Given the description of an element on the screen output the (x, y) to click on. 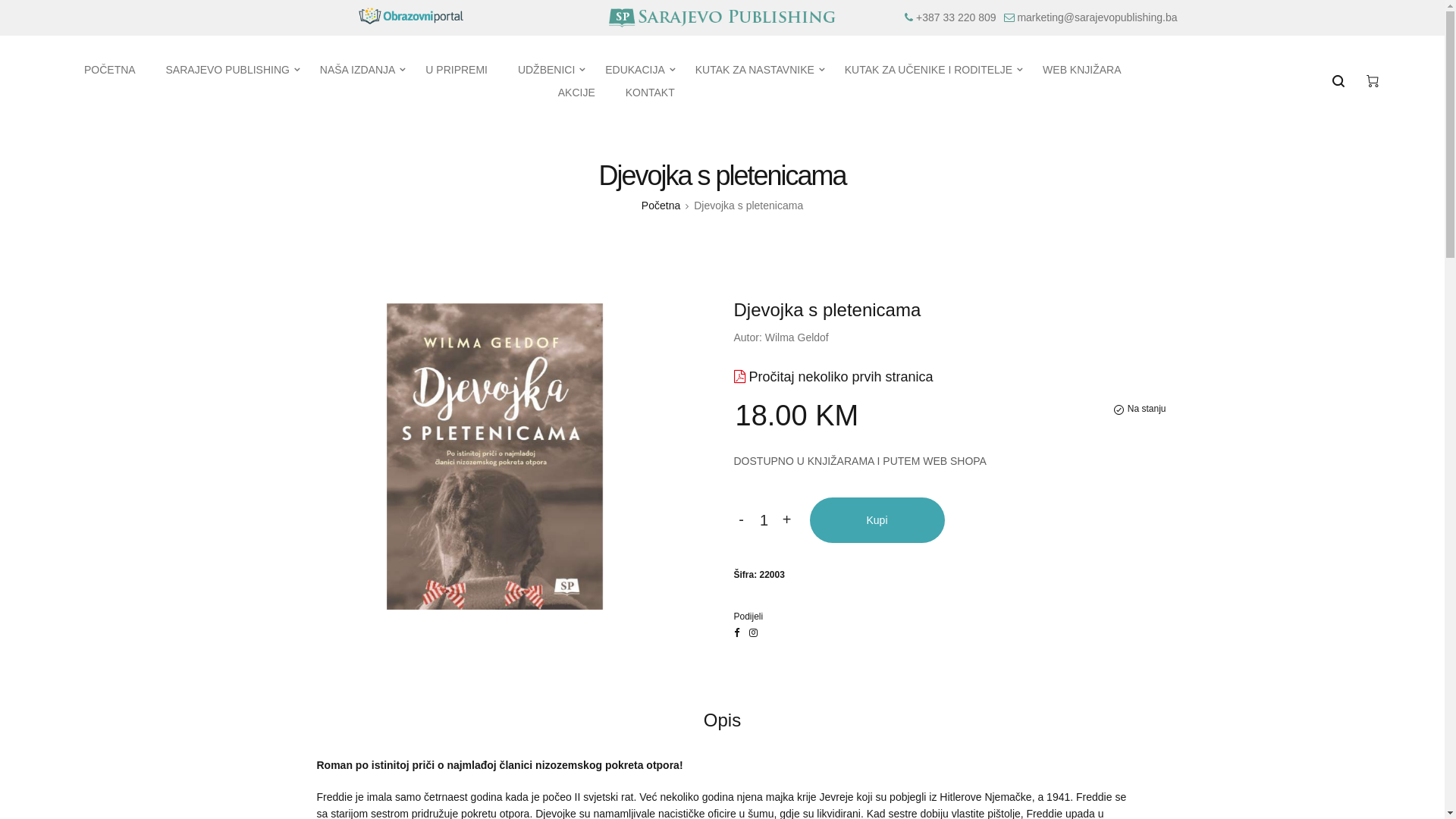
Opis Element type: text (721, 720)
marketing@sarajevopublishing.ba Element type: text (1096, 17)
SARAJEVO PUBLISHING Element type: text (227, 69)
KUTAK ZA NASTAVNIKE Element type: text (754, 69)
EDUKACIJA Element type: text (635, 69)
AKCIJE Element type: text (576, 92)
+387 33 220 809 Element type: text (956, 17)
U PRIPREMI Element type: text (456, 69)
KONTAKT Element type: text (649, 92)
Kupi Element type: text (876, 519)
